Given the description of an element on the screen output the (x, y) to click on. 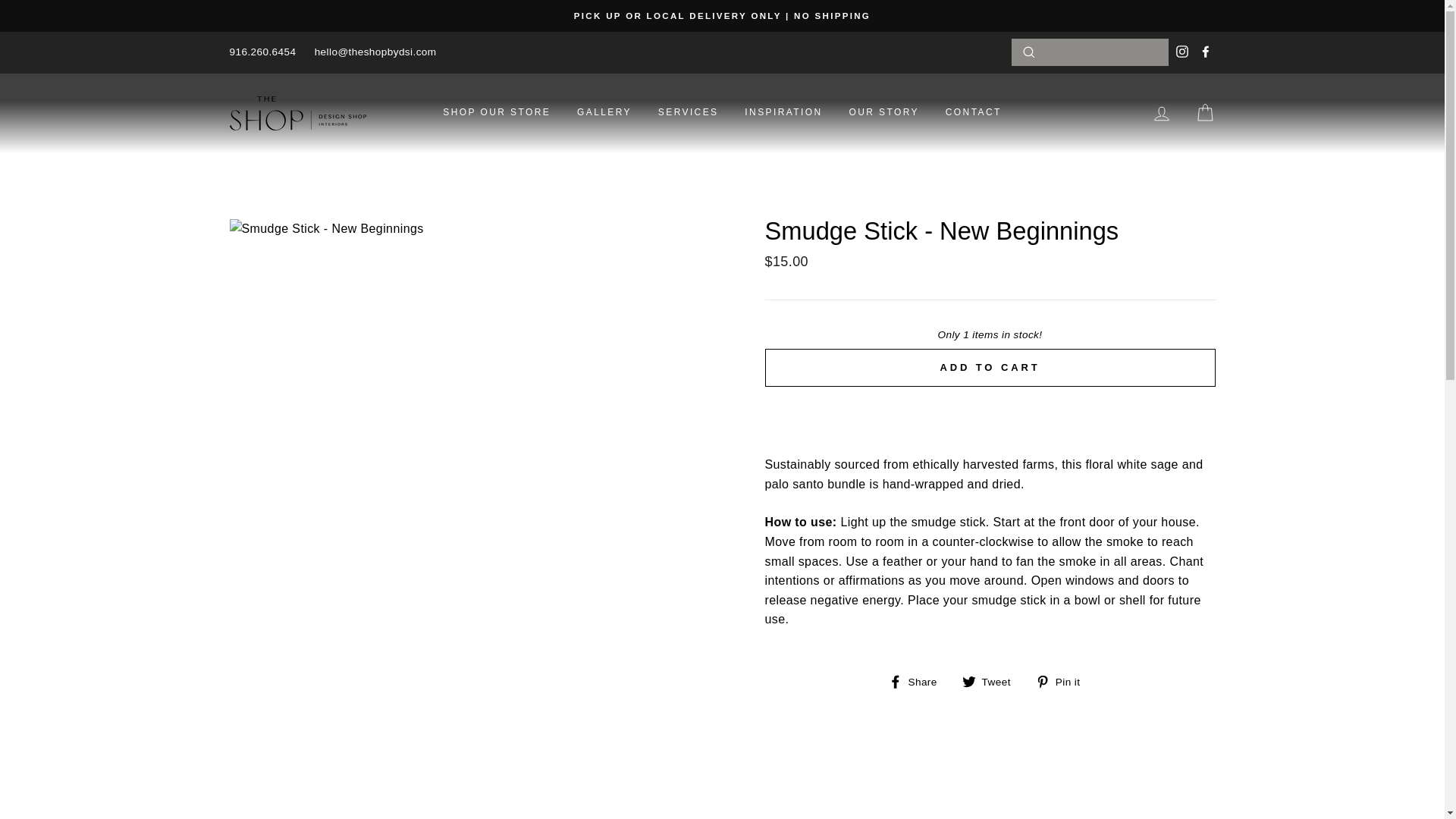
SHOP OUR STORE (496, 112)
CART (918, 681)
INSPIRATION (1062, 681)
916.260.6454 (1204, 113)
Tweet on Twitter (782, 112)
SERVICES (261, 52)
CONTACT (992, 681)
LOG IN (688, 112)
